Given the description of an element on the screen output the (x, y) to click on. 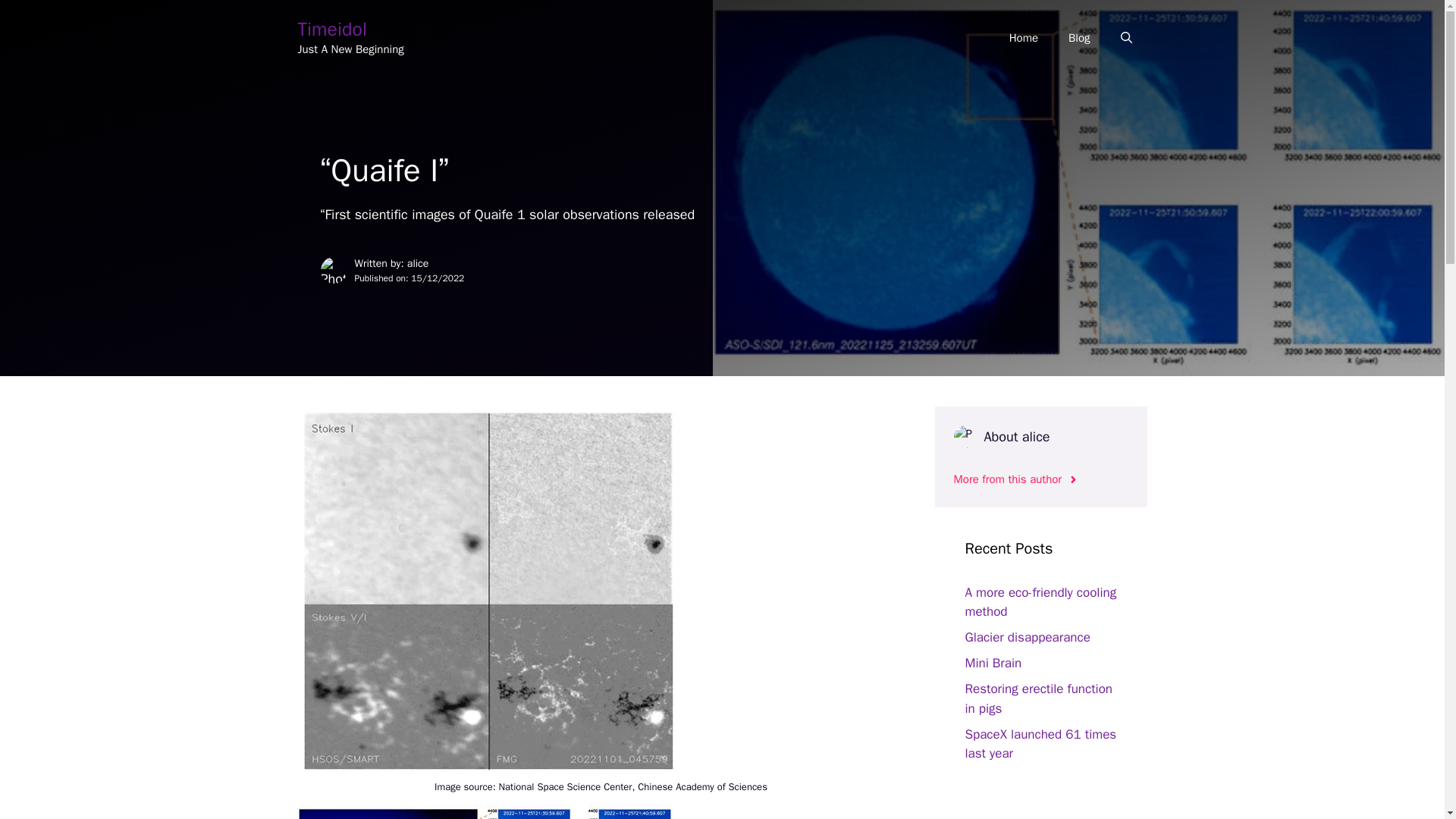
Glacier disappearance (1026, 637)
A more eco-friendly cooling method (1039, 601)
Timeidol (331, 28)
Blog (1078, 37)
Mini Brain (992, 662)
get 2 2 6 "Quaife I" (487, 811)
Home (1023, 37)
Restoring erectile function in pigs (1037, 698)
SpaceX launched 61 times last year (1039, 744)
More from this author (1015, 479)
